Given the description of an element on the screen output the (x, y) to click on. 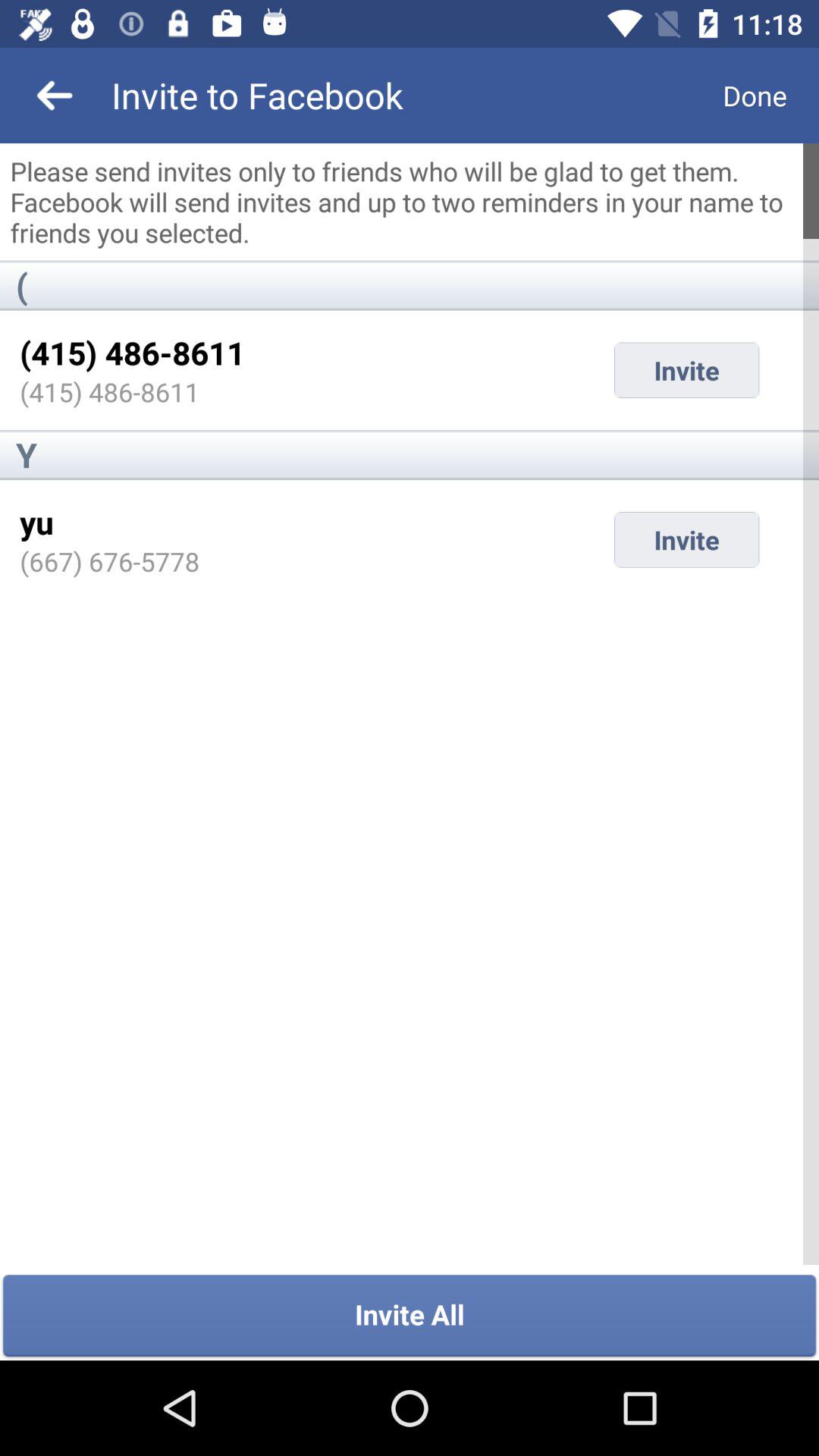
turn off the (667) 676-5778 (109, 560)
